Given the description of an element on the screen output the (x, y) to click on. 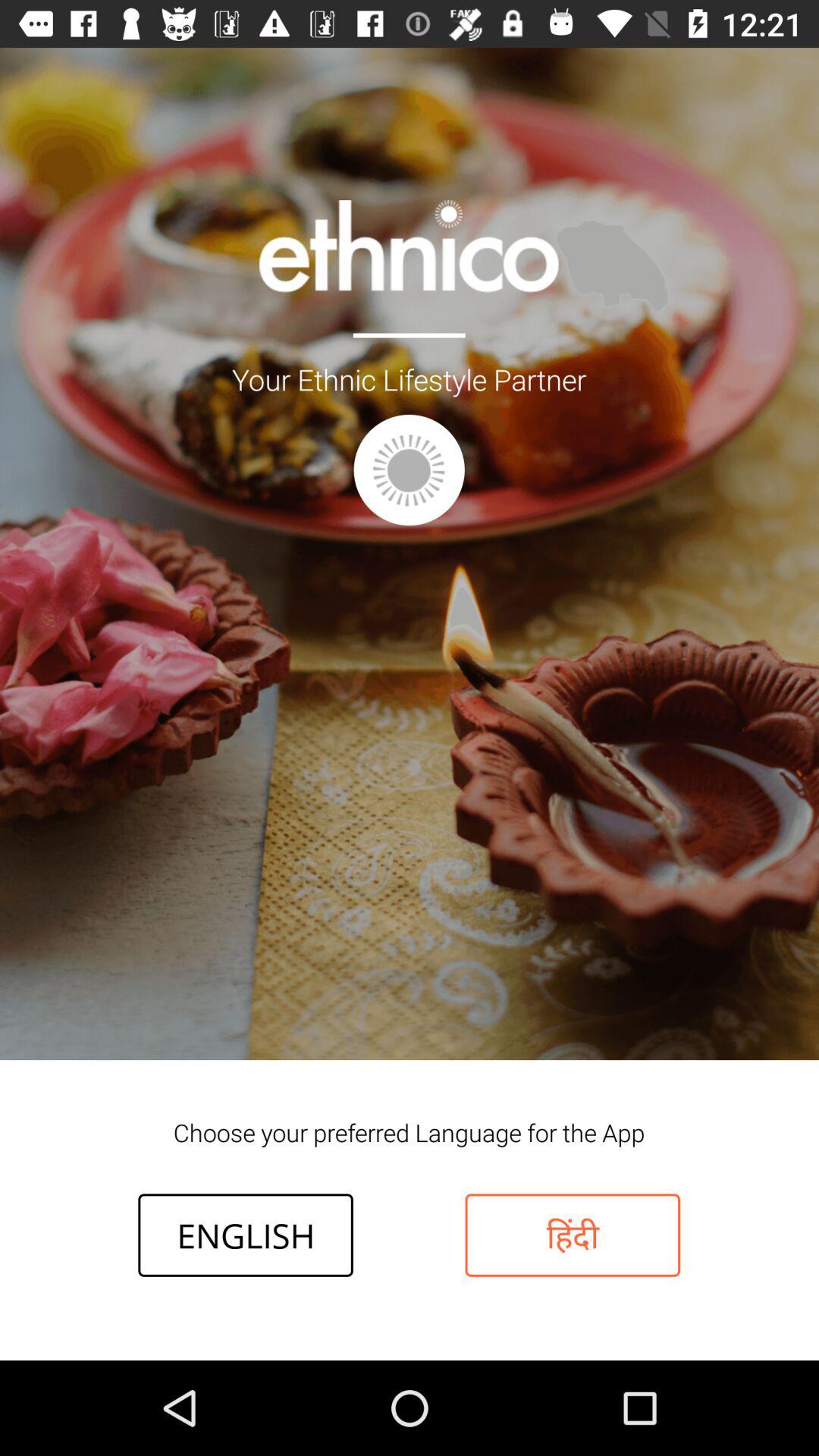
click the item next to the english icon (572, 1234)
